Given the description of an element on the screen output the (x, y) to click on. 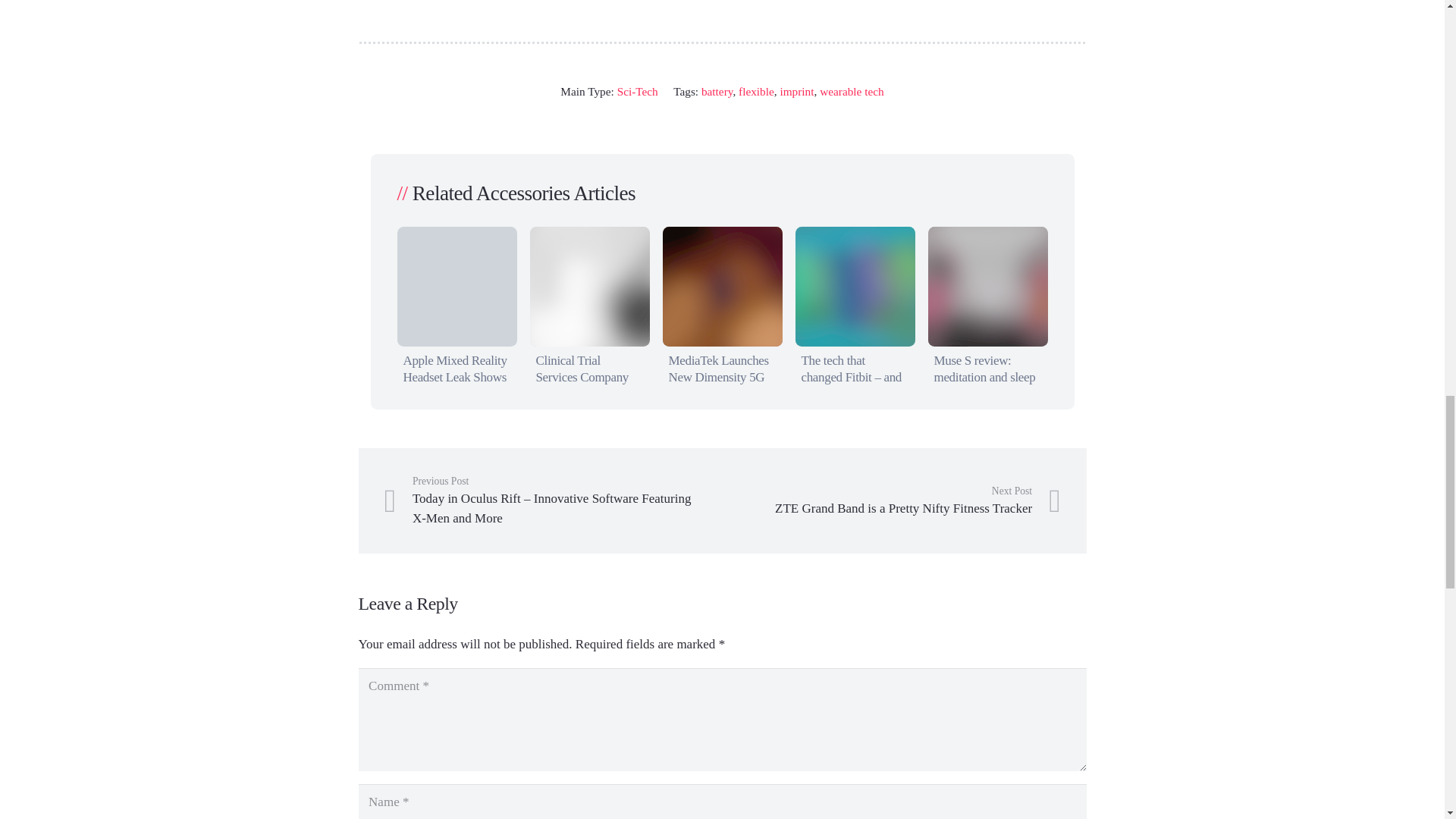
Apple Mixed Reality Headset Leak Shows Major Details 3 (456, 286)
ZTE Grand Band is a Pretty Nifty Fitness Tracker (890, 500)
